Given the description of an element on the screen output the (x, y) to click on. 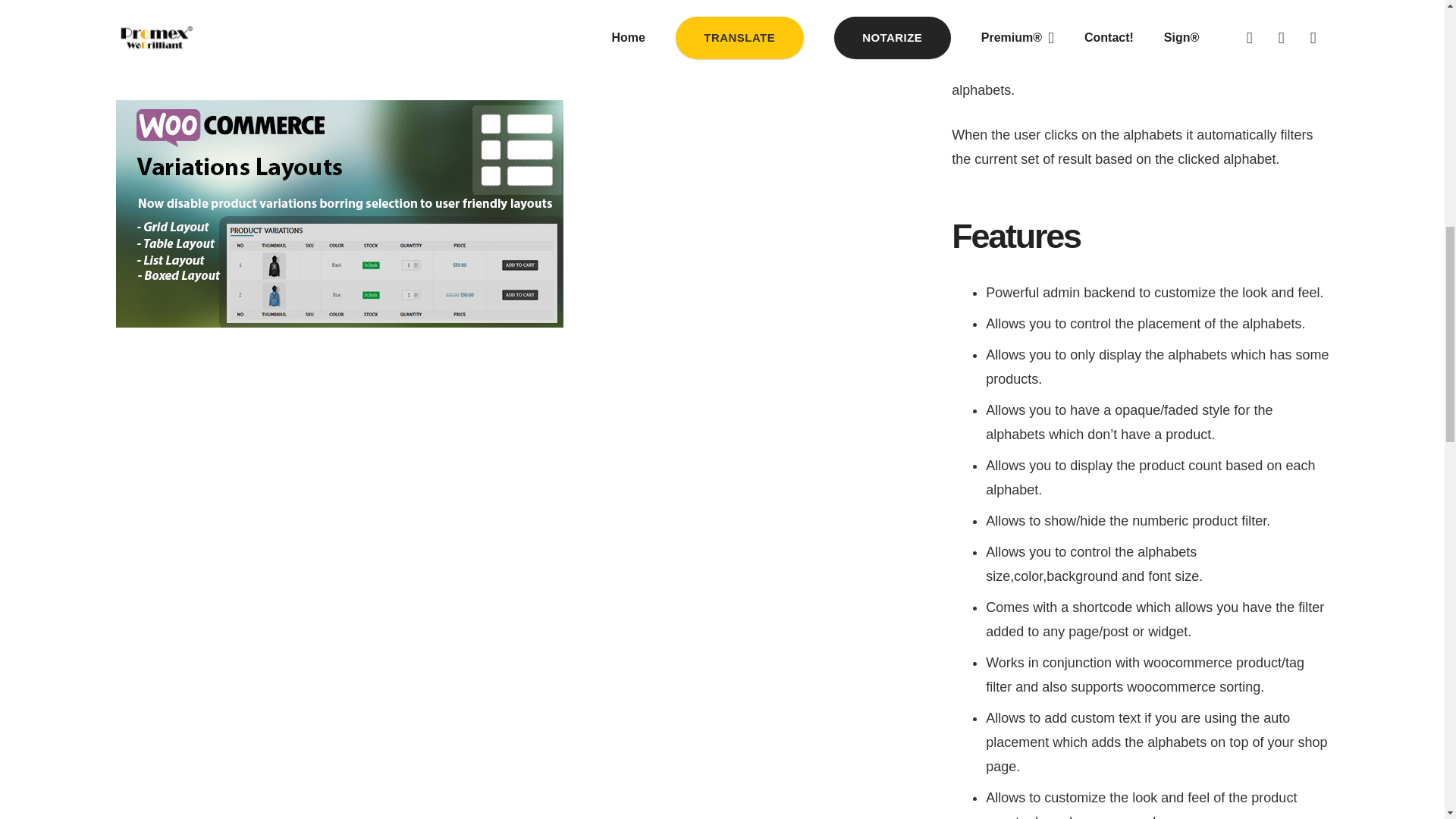
Back to top (1413, 26)
